Given the description of an element on the screen output the (x, y) to click on. 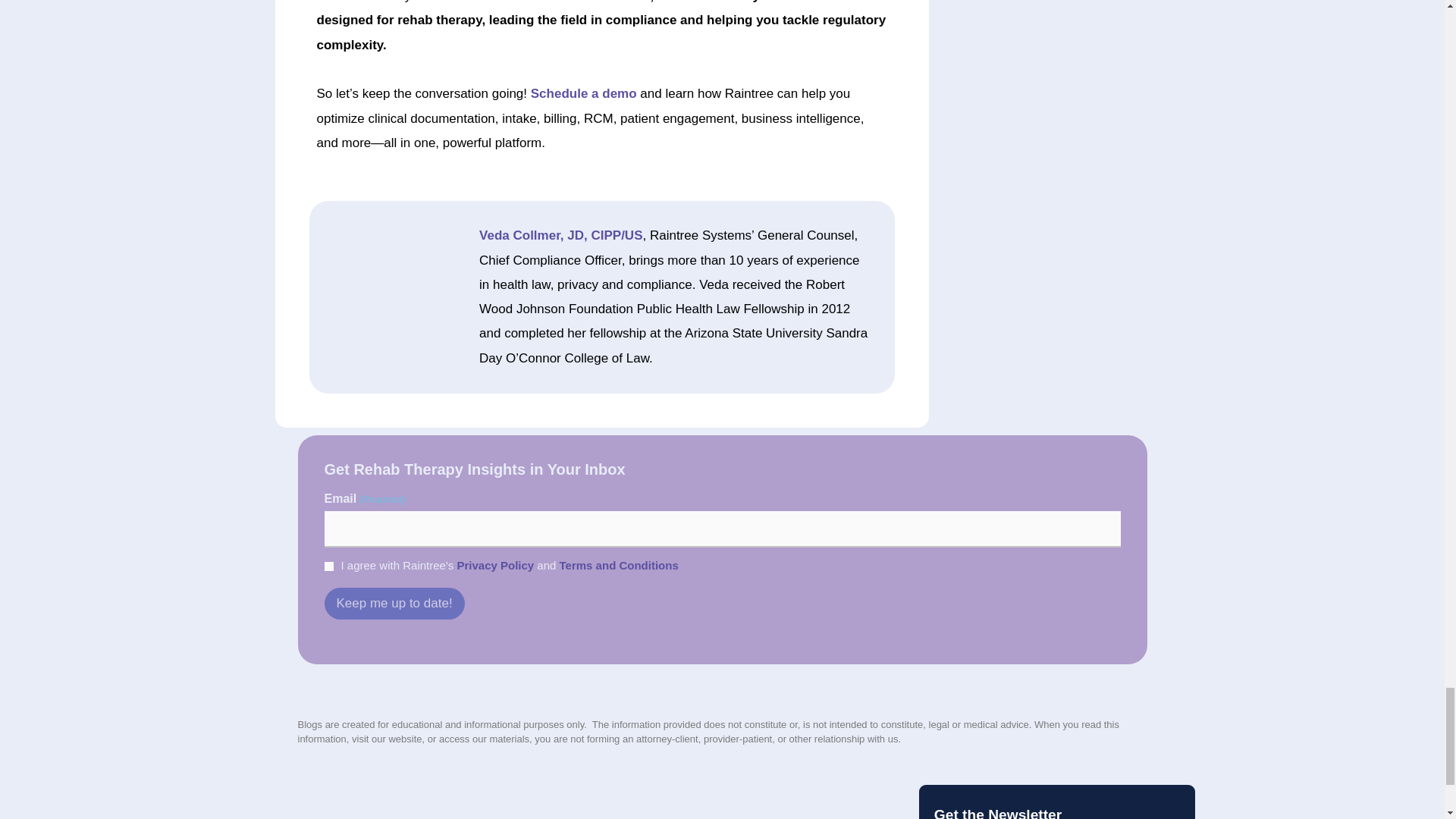
Keep me up to date! (394, 603)
